Given the description of an element on the screen output the (x, y) to click on. 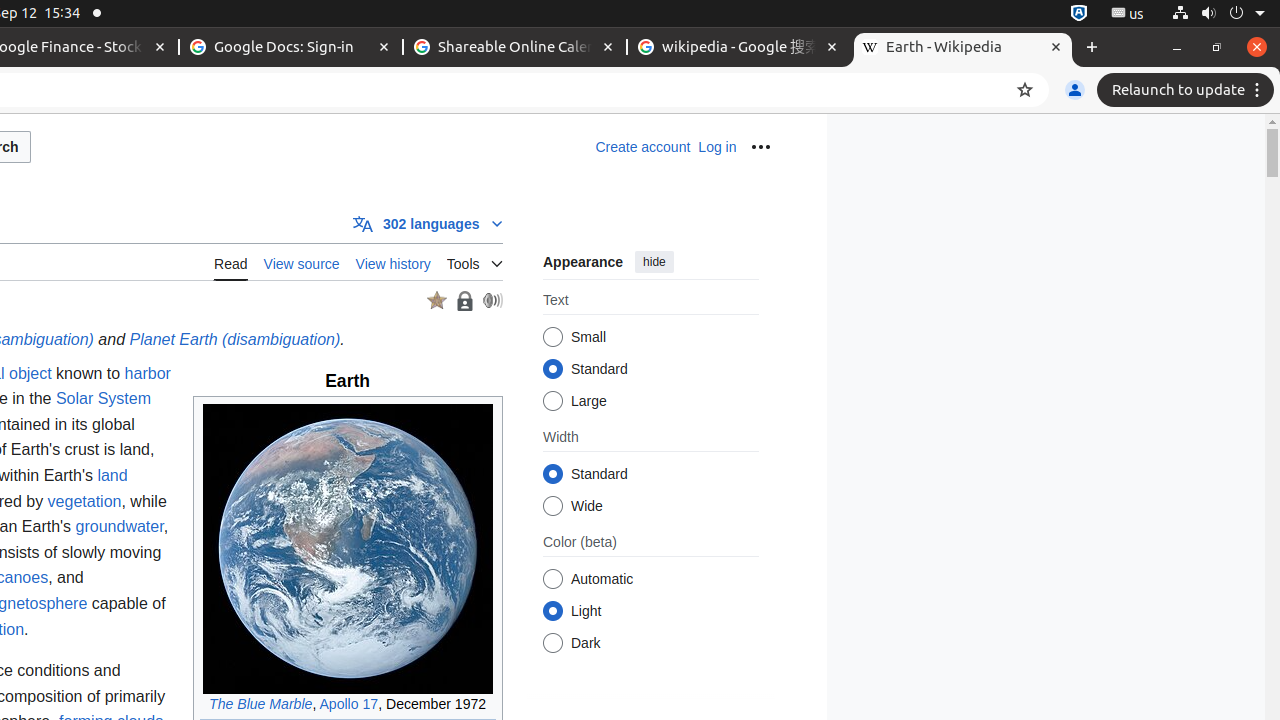
Bookmark this tab Element type: push-button (1025, 90)
View history Element type: link (393, 262)
Shareable Online Calendar and Scheduling - Google Calendar - Memory usage - 88.5 MB Element type: page-tab (515, 47)
wikipedia - Google 搜索 - Memory usage - 90.0 MB Element type: page-tab (739, 47)
Automatic Element type: radio-button (552, 579)
